Given the description of an element on the screen output the (x, y) to click on. 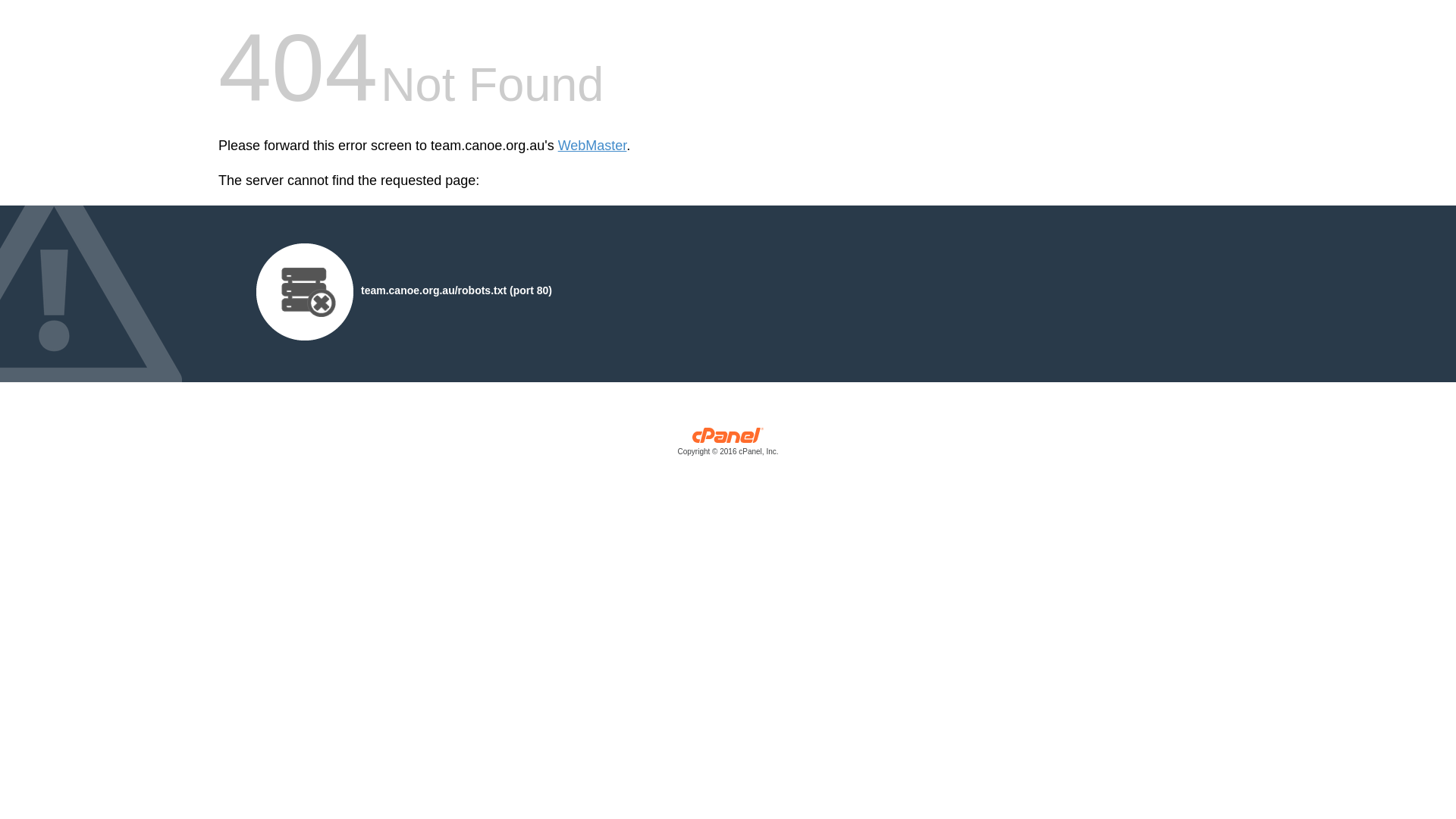
WebMaster Element type: text (592, 145)
